Given the description of an element on the screen output the (x, y) to click on. 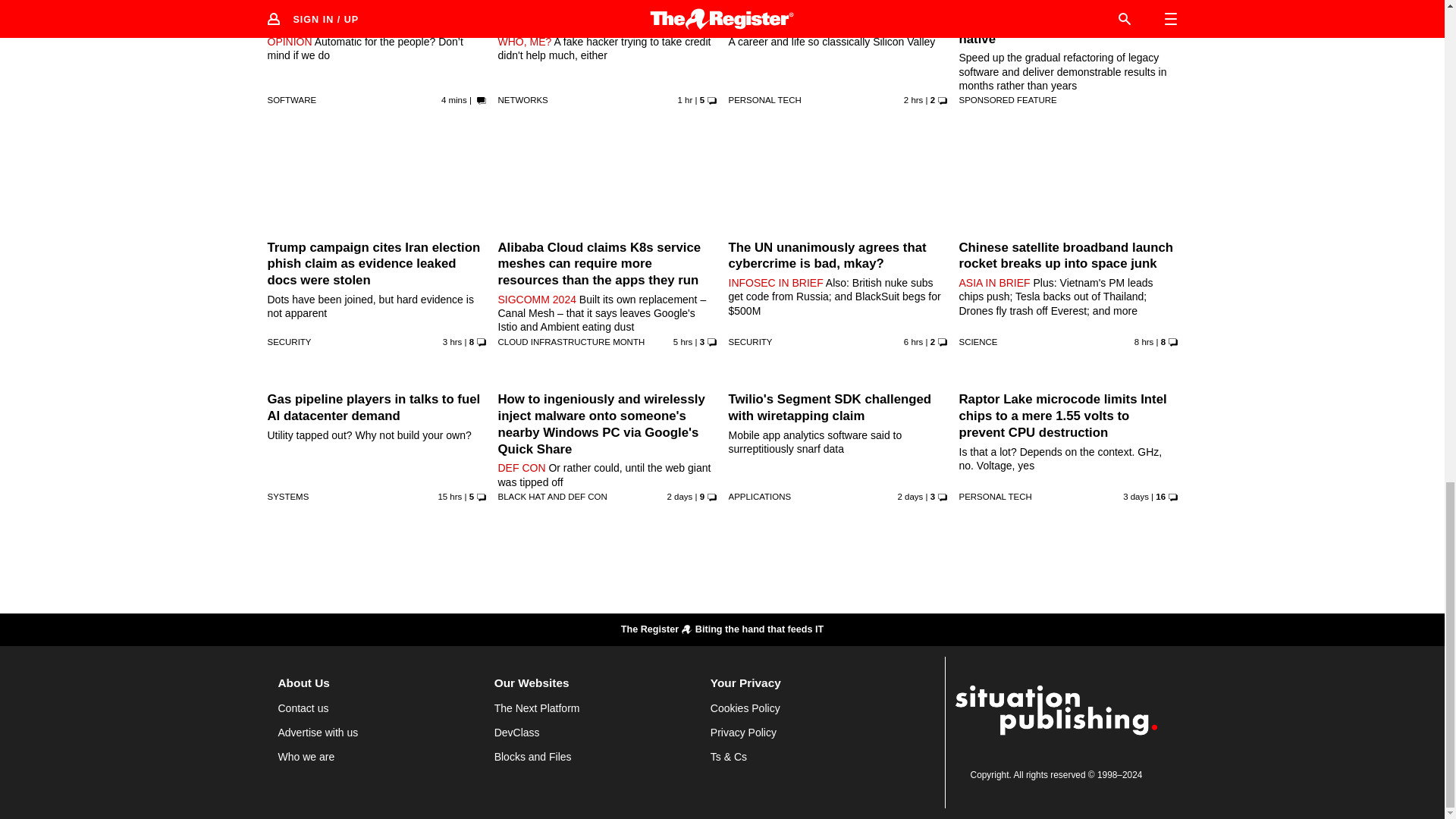
12 Aug 2024 6:30 (913, 99)
12 Aug 2024 2:30 (913, 341)
12 Aug 2024 1:0 (1144, 341)
12 Aug 2024 7:36 (685, 99)
12 Aug 2024 8:33 (454, 99)
12 Aug 2024 4:1 (682, 341)
12 Aug 2024 5:34 (452, 341)
10 Aug 2024 19:0 (679, 496)
11 Aug 2024 17:43 (449, 496)
